Given the description of an element on the screen output the (x, y) to click on. 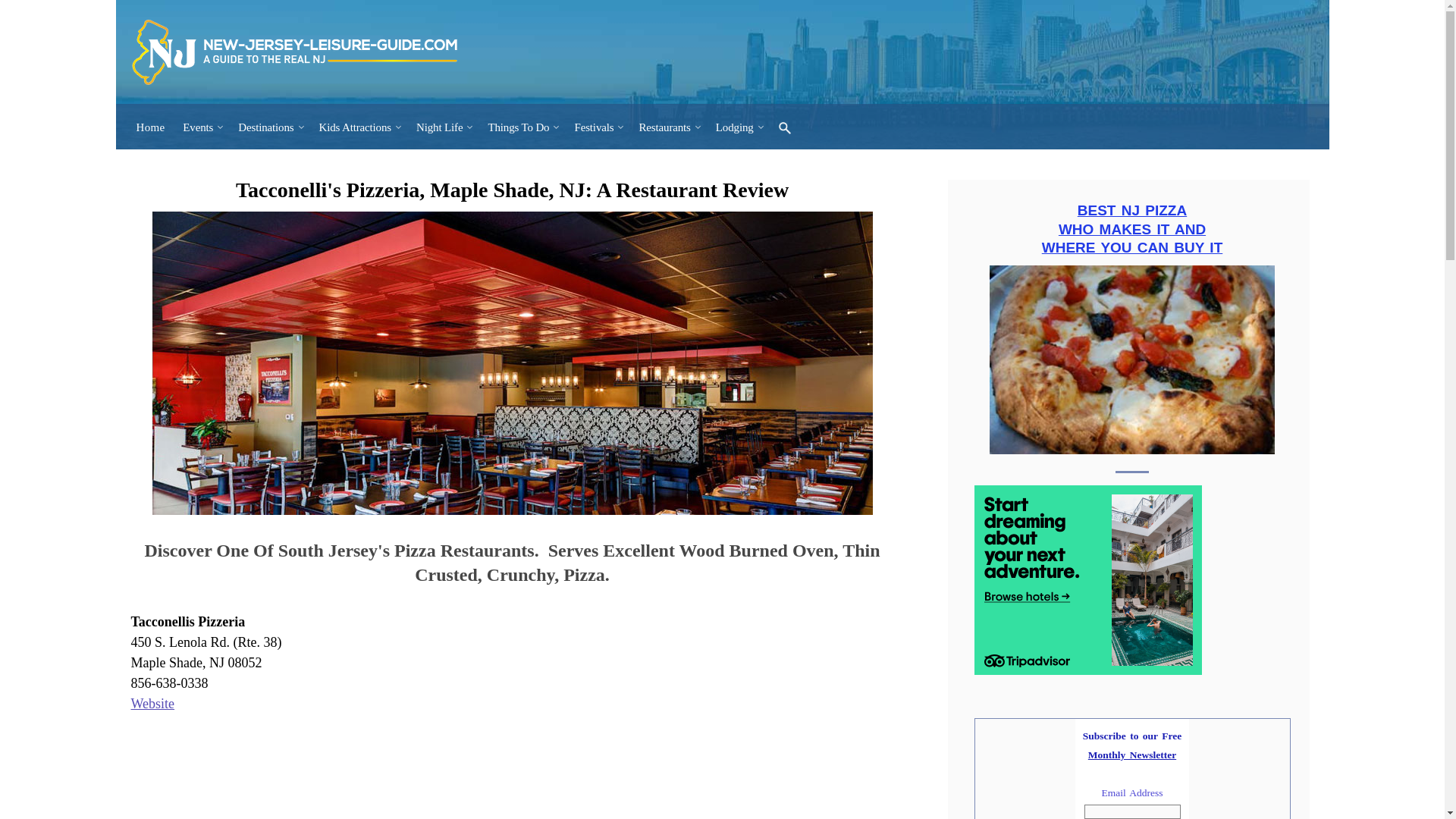
Best NJ Pizza Restaurants (1132, 359)
Go to The Best New Jersey Pizza (1132, 449)
Home (151, 127)
Advertisement (406, 768)
